Given the description of an element on the screen output the (x, y) to click on. 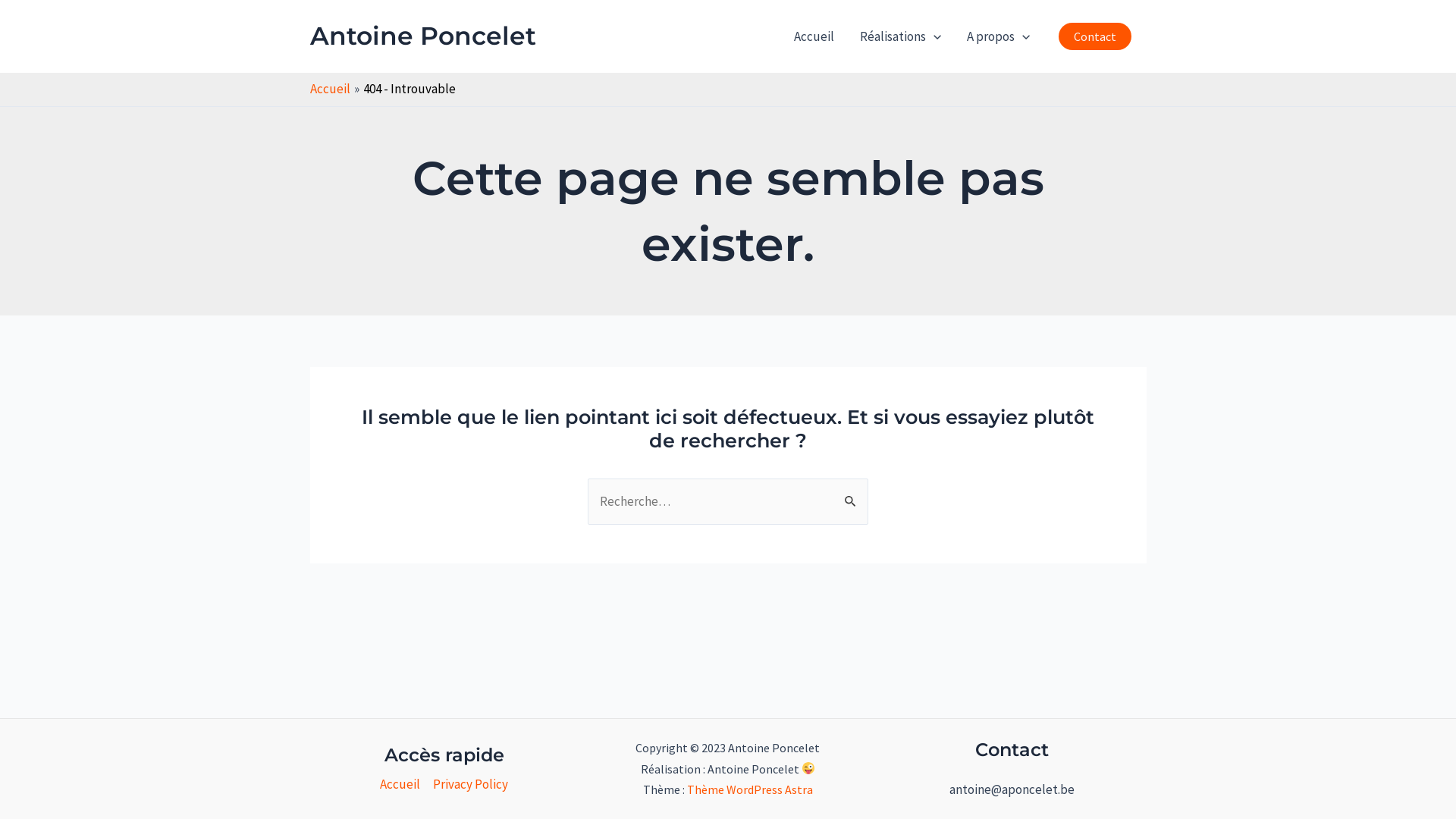
Rechercher Element type: text (851, 494)
Accueil Element type: text (814, 36)
A propos Element type: text (997, 36)
Privacy Policy Element type: text (467, 784)
Accueil Element type: text (402, 784)
Contact Element type: text (1094, 36)
Antoine Poncelet Element type: text (422, 35)
Accueil Element type: text (329, 88)
